Given the description of an element on the screen output the (x, y) to click on. 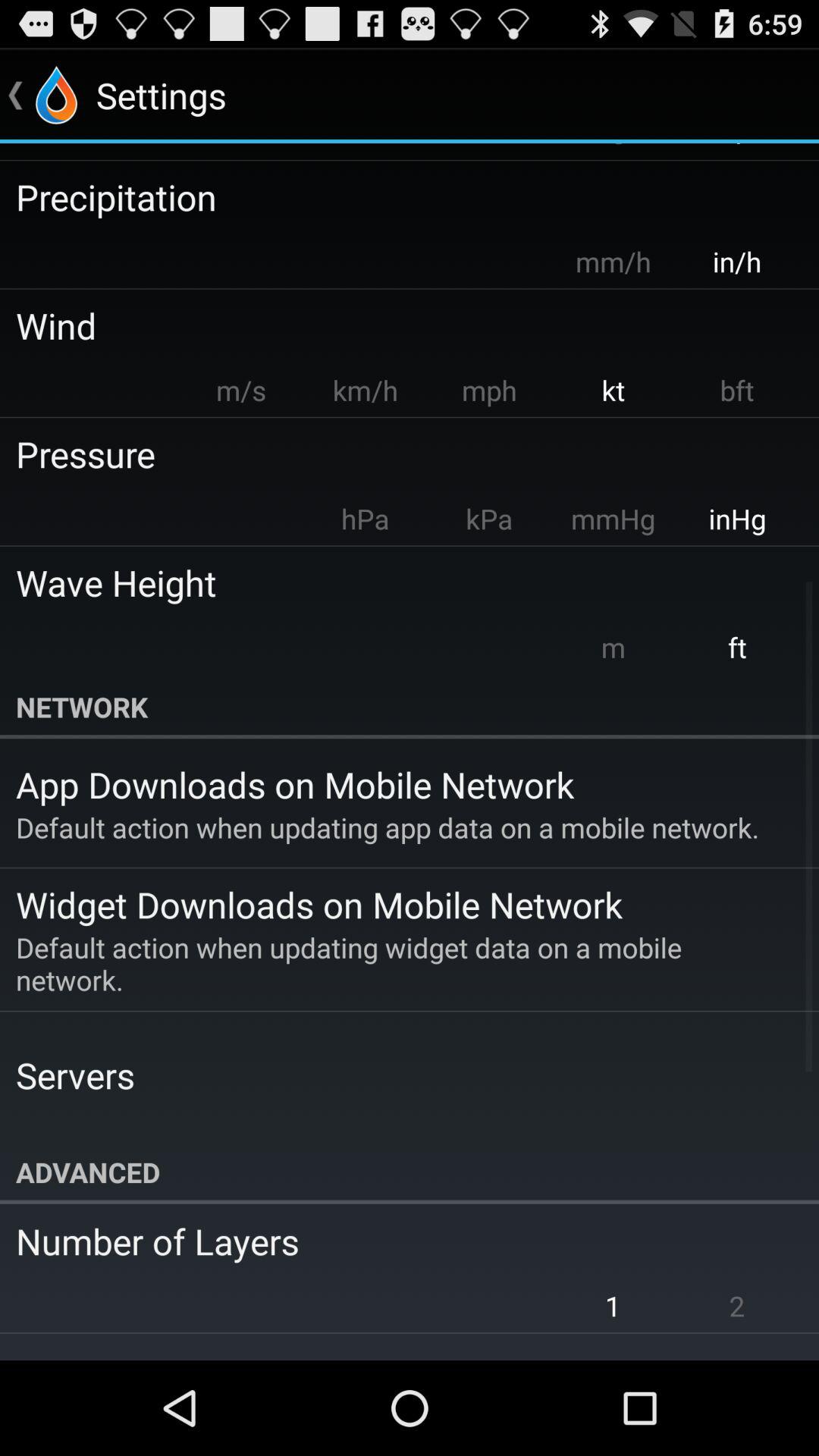
tap app to the right of the km/h app (489, 389)
